Given the description of an element on the screen output the (x, y) to click on. 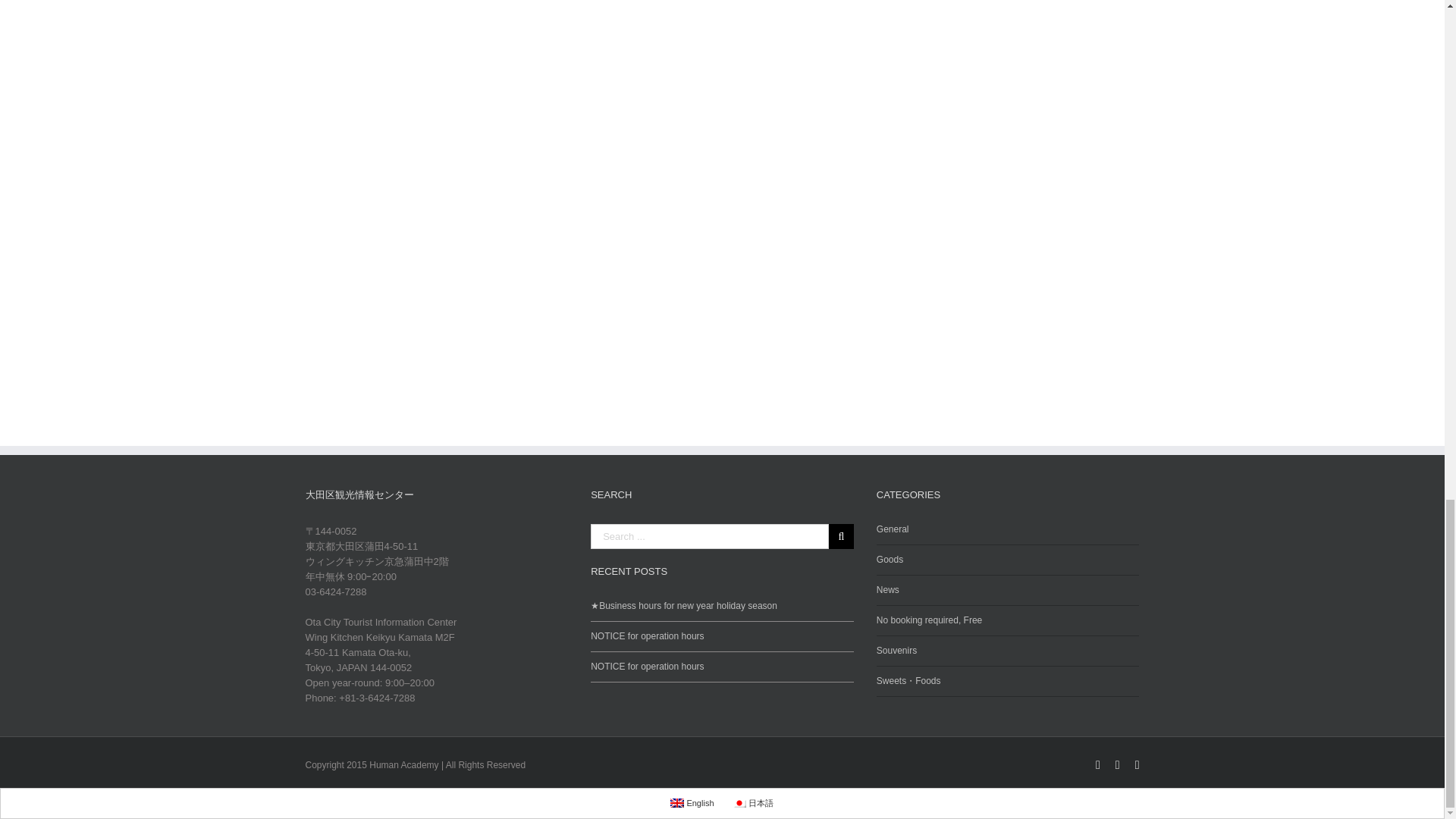
Goods (1008, 560)
Souvenirs (1008, 651)
NOTICE for operation hours (722, 661)
General (1008, 534)
News (1008, 590)
NOTICE for operation hours (722, 631)
No booking required, Free (1008, 621)
English (676, 802)
